Given the description of an element on the screen output the (x, y) to click on. 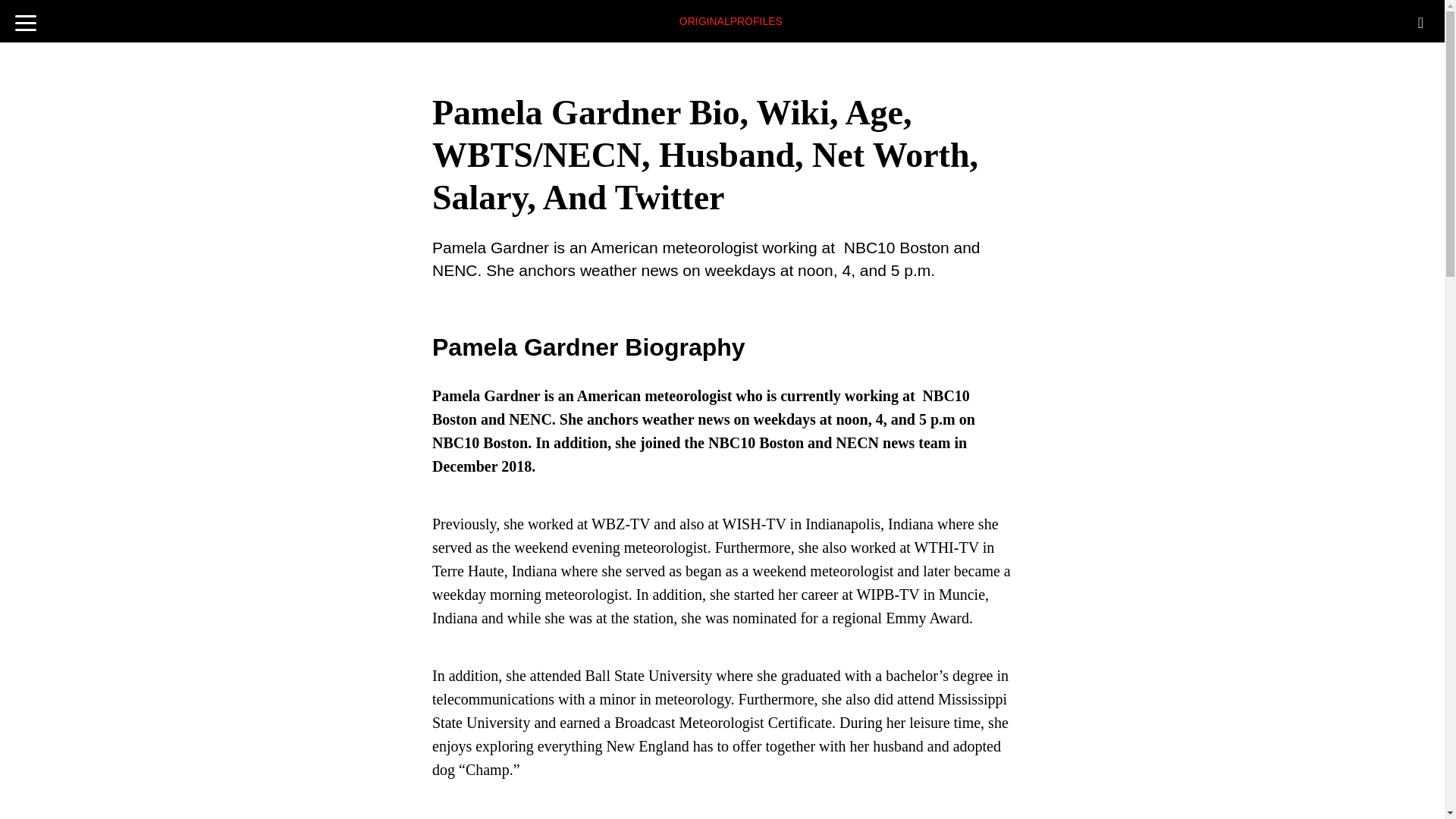
ORIGINALPROFILES (731, 17)
toggle navigation (25, 18)
